Given the description of an element on the screen output the (x, y) to click on. 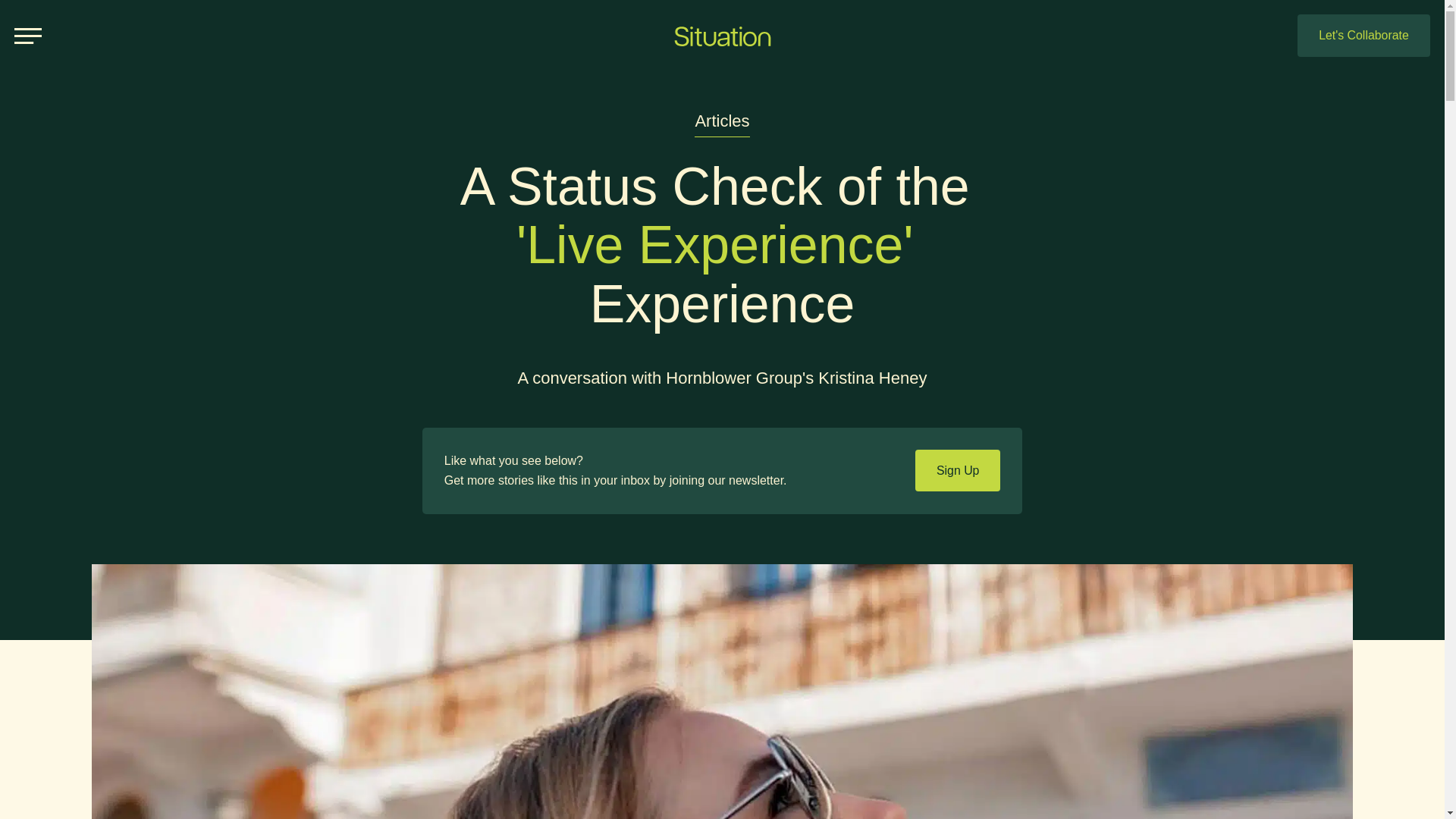
Let's Collaborate (1363, 35)
Sign Up (957, 470)
Menu (28, 35)
